Given the description of an element on the screen output the (x, y) to click on. 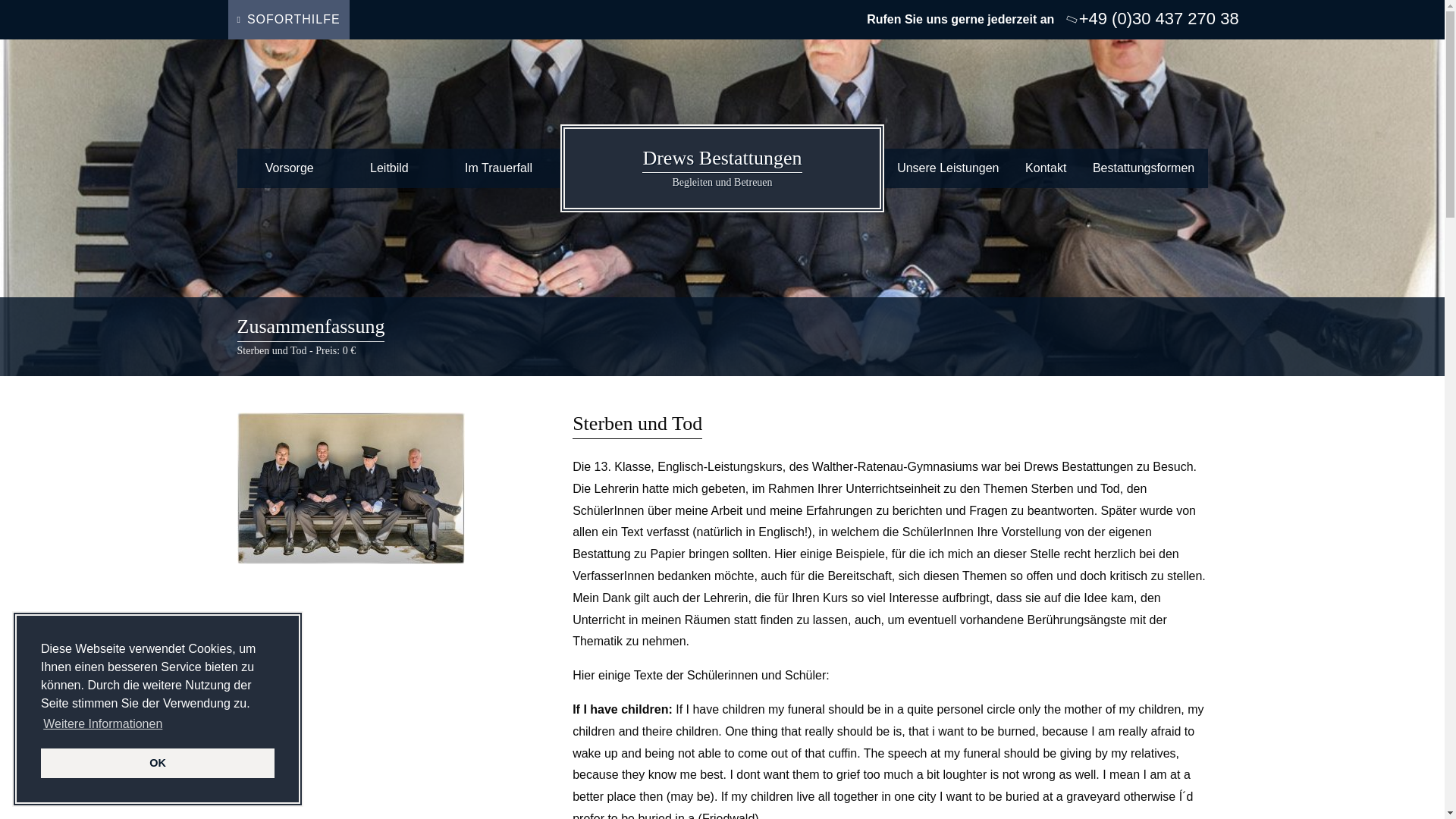
Unsere Leistungen (947, 168)
Leitbild (389, 168)
SOFORTHILFE (721, 168)
Weitere Informationen (288, 19)
Vorsorge (102, 723)
Im Trauerfall (287, 168)
OK (498, 168)
Kontakt (157, 762)
Bestattungsformen (1045, 168)
